Given the description of an element on the screen output the (x, y) to click on. 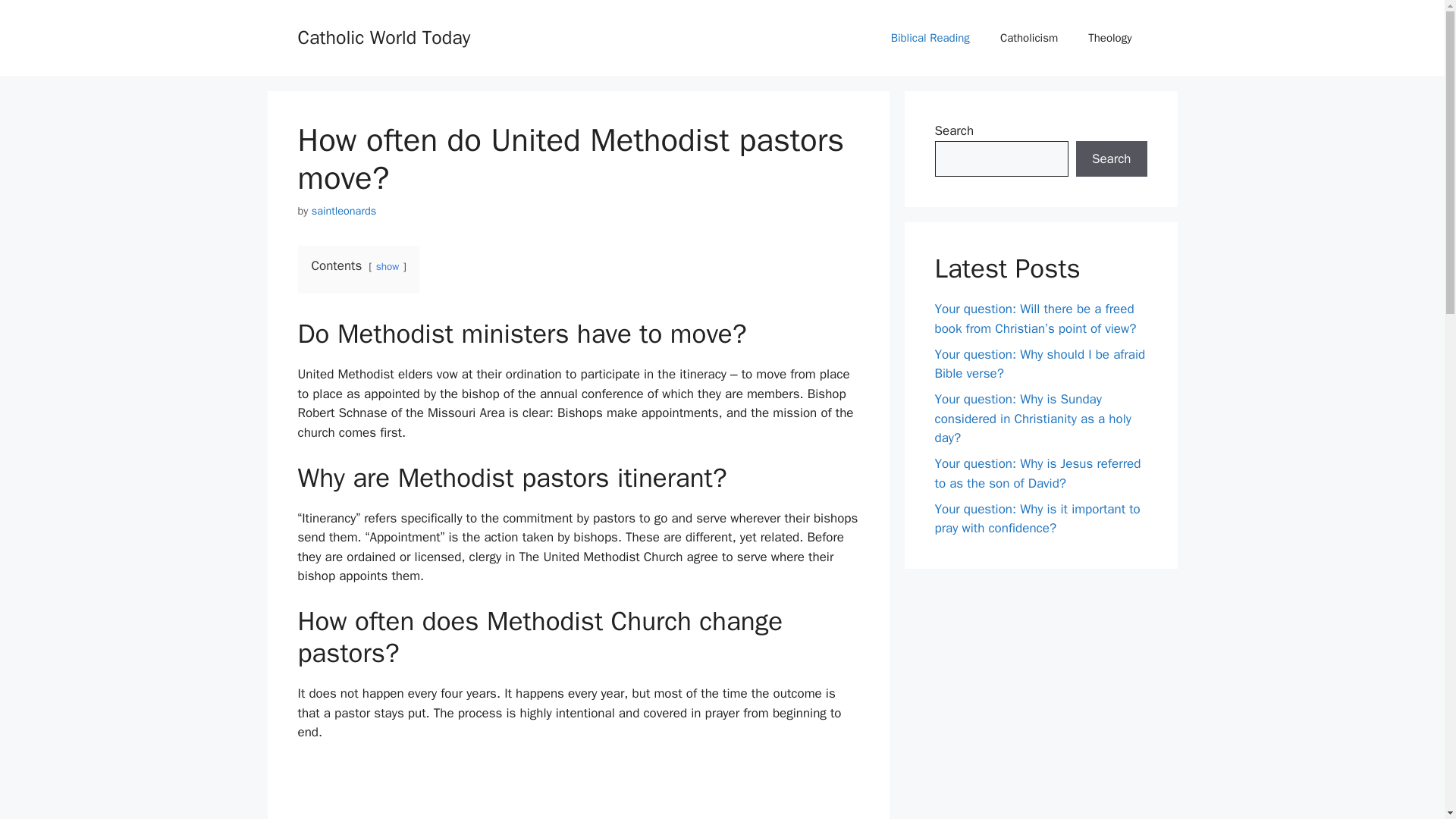
Search (1111, 158)
Your question: Why is it important to pray with confidence? (1037, 518)
Catholicism (1029, 37)
Theology (1110, 37)
show (386, 266)
Catholic World Today (383, 37)
saintleonards (344, 210)
Your question: Why is Jesus referred to as the son of David? (1037, 473)
View all posts by saintleonards (344, 210)
